Given the description of an element on the screen output the (x, y) to click on. 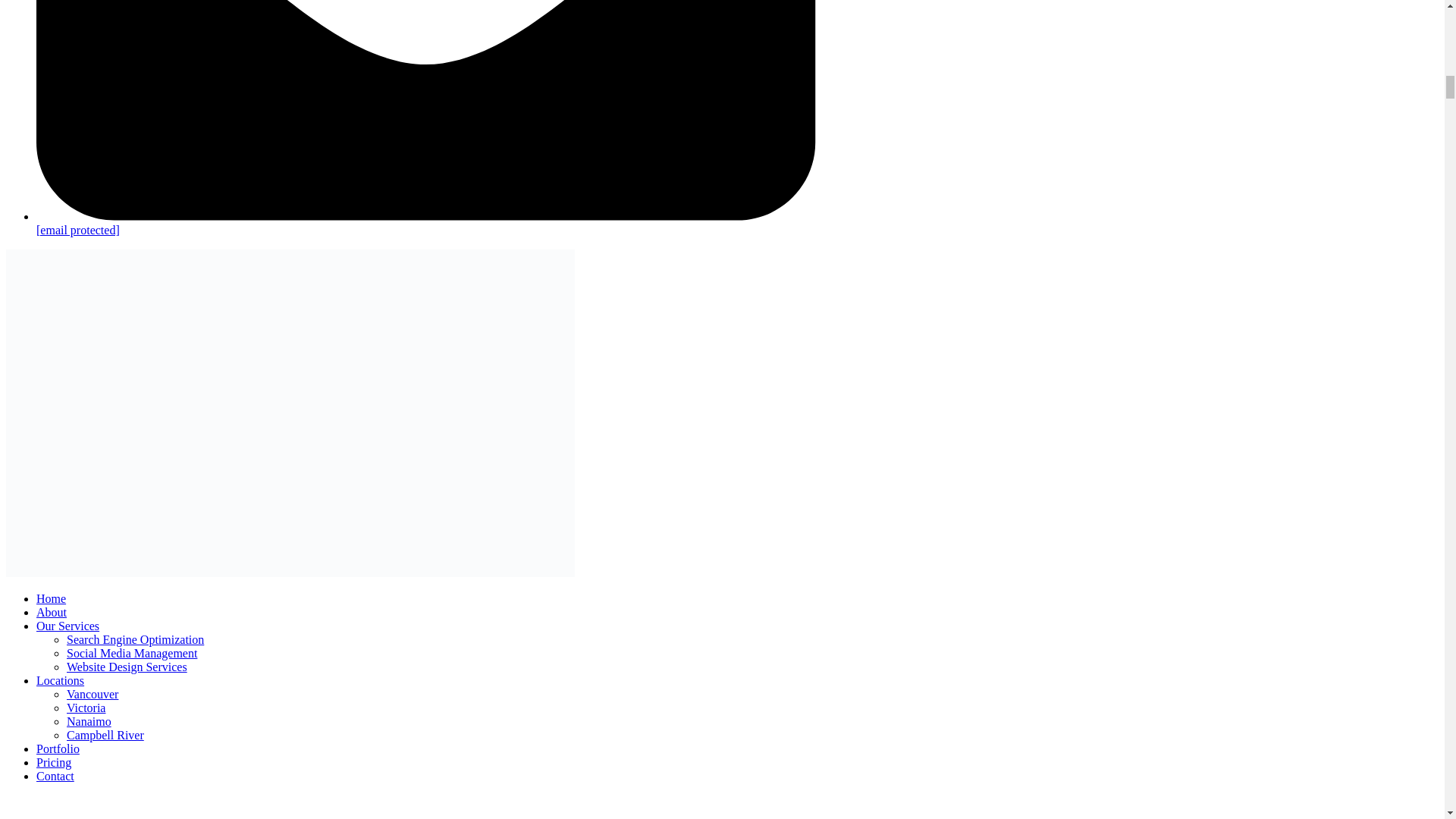
Social Media Management (131, 653)
Contact (55, 775)
Pricing (53, 762)
Campbell River (105, 735)
Nanaimo (89, 721)
Website Design Services (126, 666)
Home (50, 598)
Locations (60, 680)
About (51, 612)
Search Engine Optimization (134, 639)
Portfolio (58, 748)
Vancouver (91, 694)
Our Services (67, 625)
Victoria (85, 707)
